Given the description of an element on the screen output the (x, y) to click on. 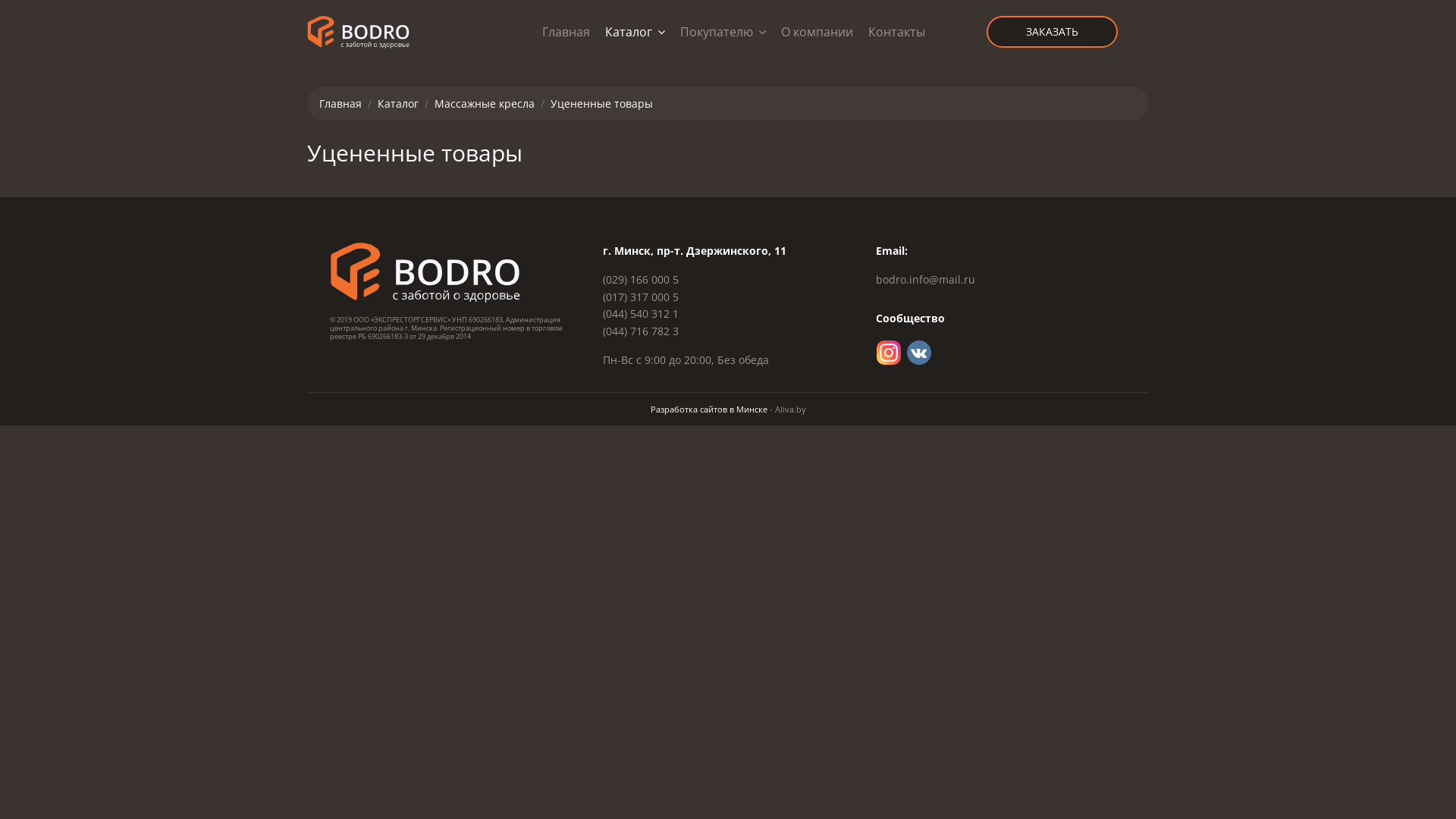
(044) 540 312 1 Element type: text (640, 313)
(017) 317 000 5 Element type: text (640, 296)
(029) 166 000 5 Element type: text (640, 279)
bodro.info@mail.ru Element type: text (925, 279)
(044) 716 782 3 Element type: text (640, 330)
